Given the description of an element on the screen output the (x, y) to click on. 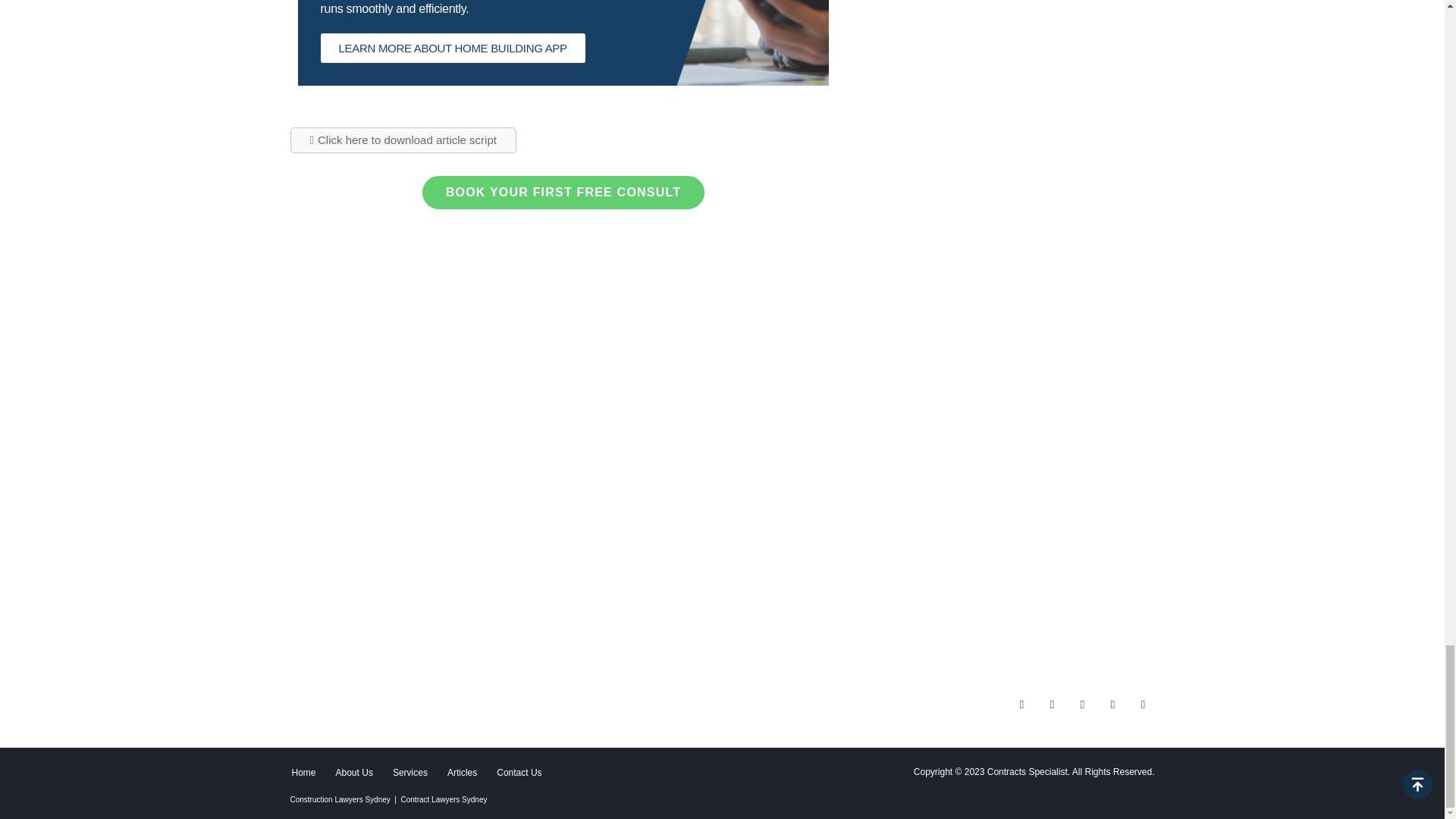
100 Harris St, Pyrmont NSW 2009, Australia (957, 555)
